Given the description of an element on the screen output the (x, y) to click on. 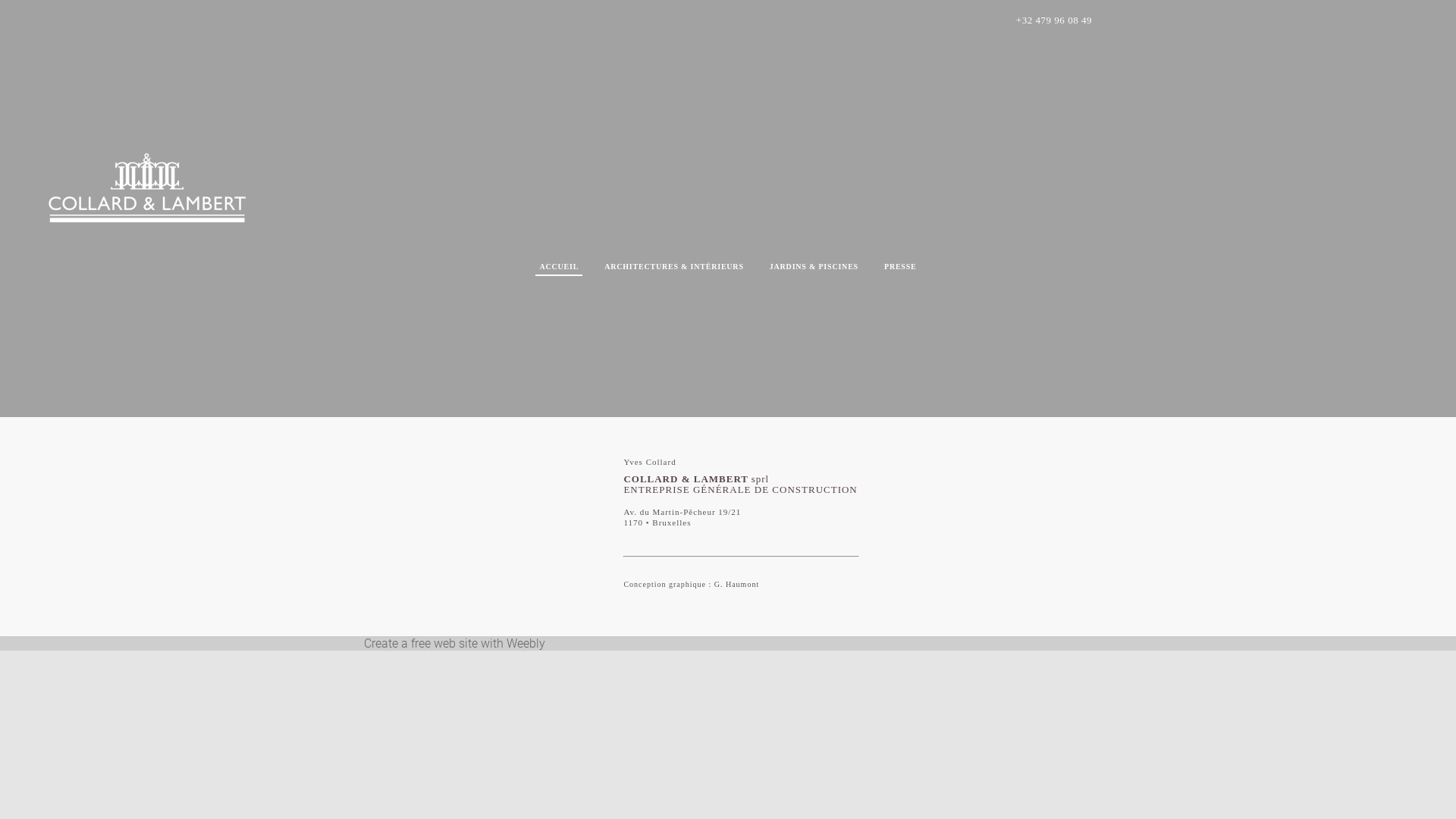
JARDINS & PISCINES Element type: text (813, 267)
PRESSE Element type: text (900, 267)
ACCUEIL Element type: text (558, 267)
Weebly Element type: text (525, 643)
free web site Element type: text (444, 643)
